Given the description of an element on the screen output the (x, y) to click on. 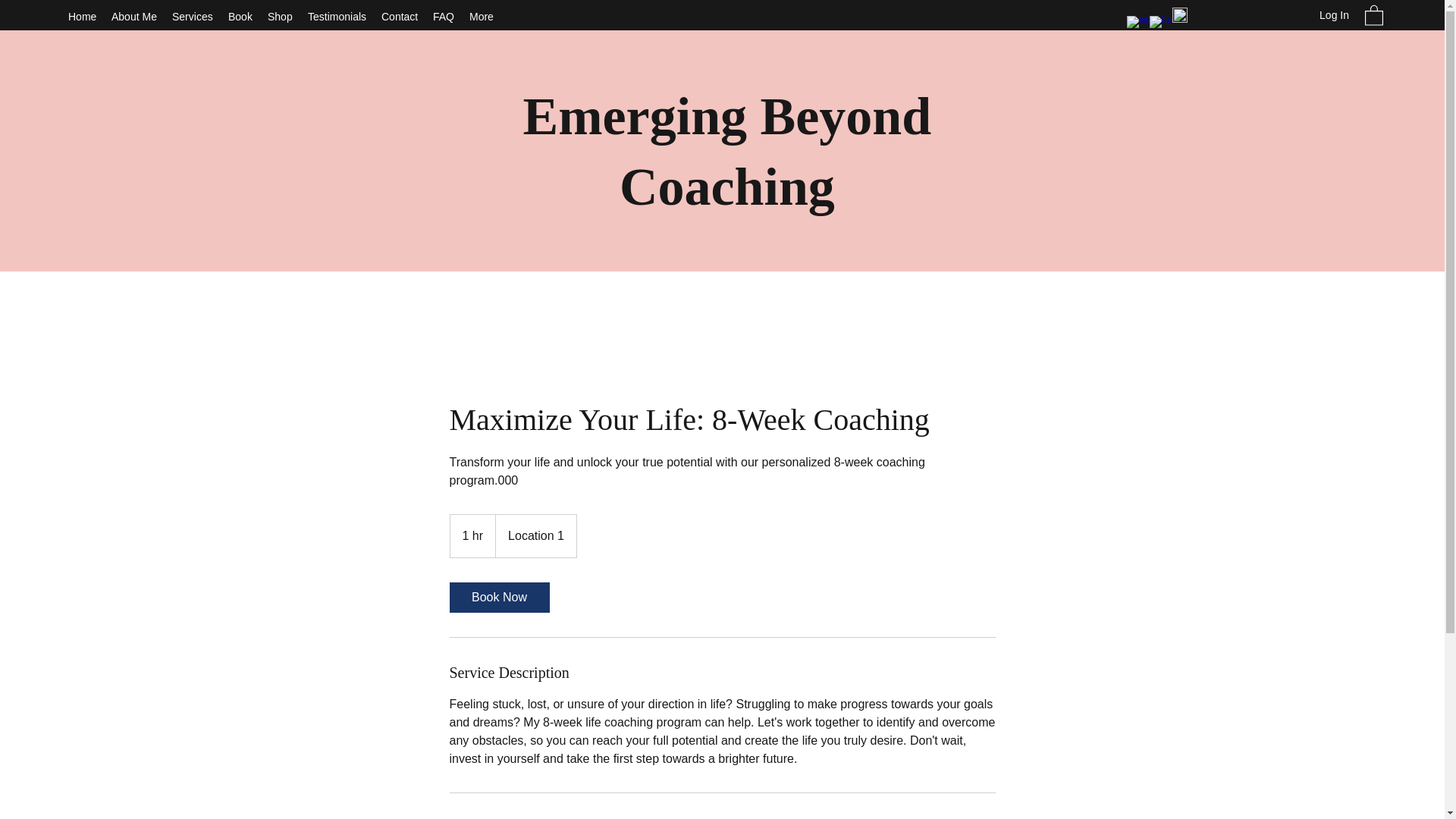
Book Now (498, 597)
Testimonials (336, 15)
Contact (399, 15)
About Me (133, 15)
Home (82, 15)
Emerging Beyond Coaching (726, 151)
Log In (1333, 15)
FAQ (443, 15)
Book (240, 15)
Shop (279, 15)
